Given the description of an element on the screen output the (x, y) to click on. 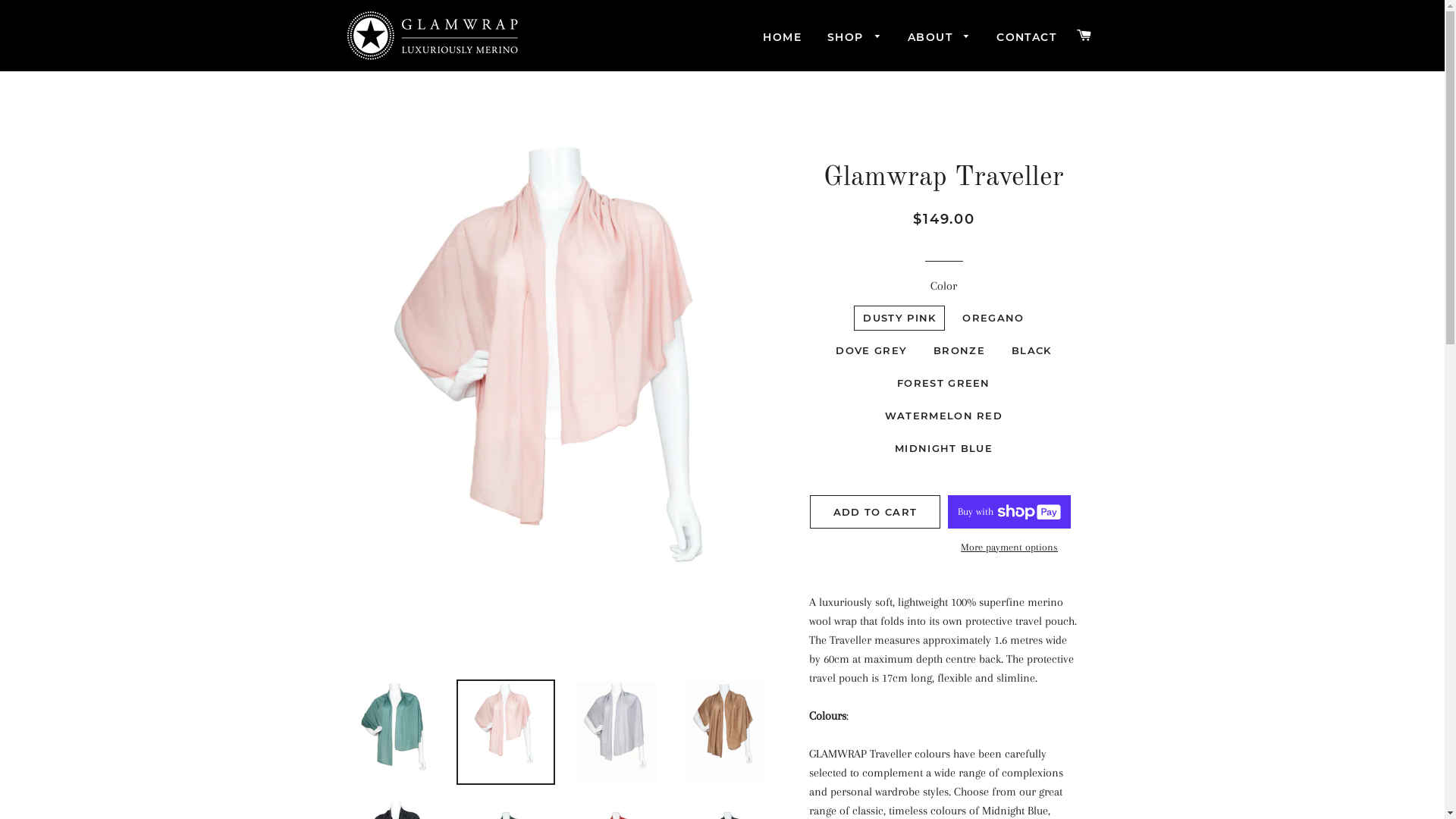
More payment options Element type: text (1008, 547)
ADD TO CART Element type: text (874, 511)
ABOUT Element type: text (939, 37)
CART Element type: text (1083, 35)
HOME Element type: text (781, 37)
SHOP Element type: text (854, 37)
CONTACT Element type: text (1026, 37)
